Given the description of an element on the screen output the (x, y) to click on. 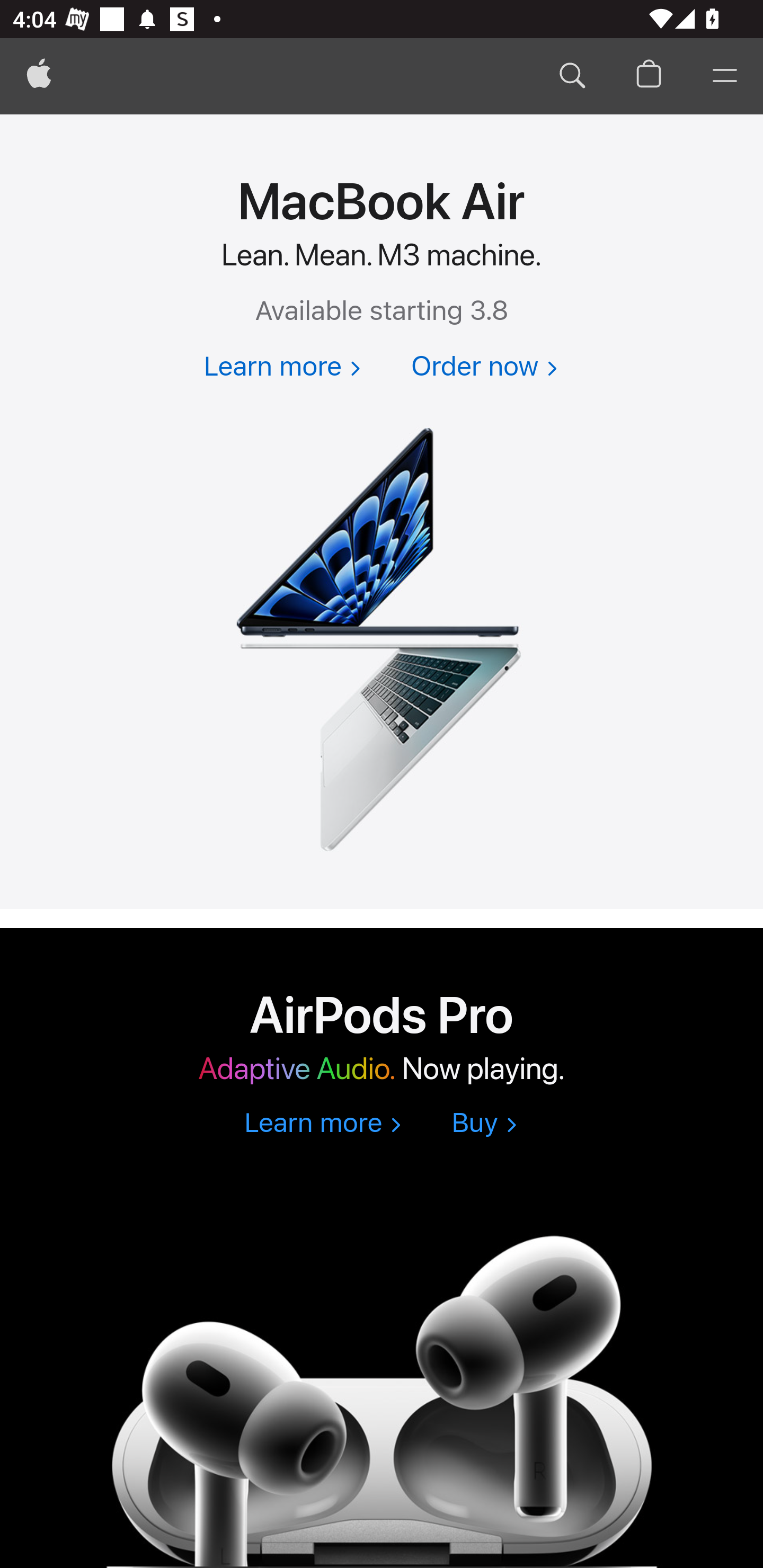
Apple (38, 75)
Search apple.com (572, 75)
Shopping Bag (648, 75)
Menu (724, 75)
Order now, Macbook Air with M3 chip Order now  (483, 367)
Learn more about AirPods Pro Learn more  (322, 1124)
Buy AirPods Pro Buy  (484, 1124)
